Given the description of an element on the screen output the (x, y) to click on. 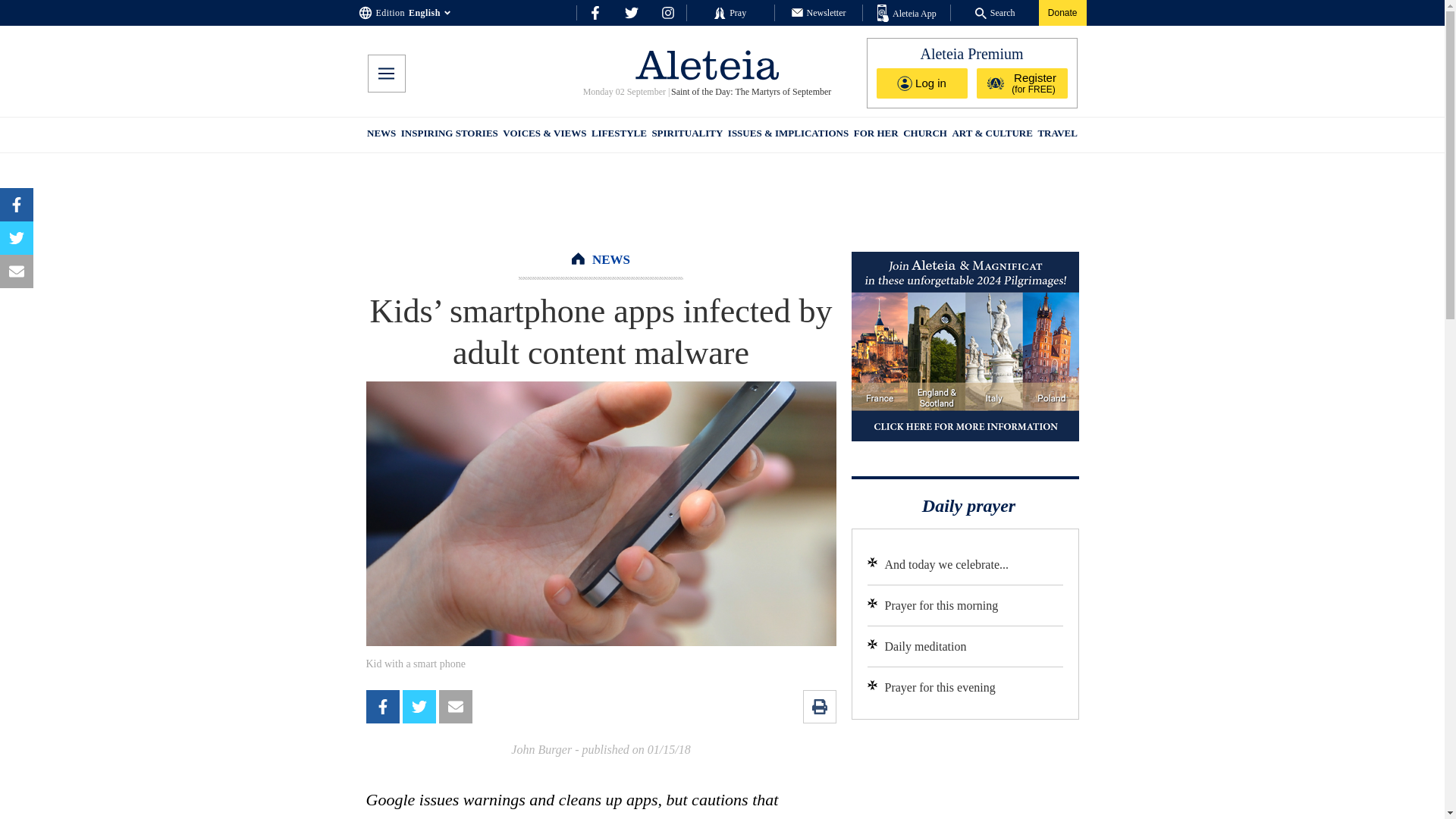
Saint of the Day: The Martyrs of September (750, 91)
Pray (729, 12)
social-ig-top-row (668, 12)
John Burger (541, 748)
LIFESTYLE (618, 134)
INSPIRING STORIES (449, 134)
social-fb-top-row (595, 12)
Newsletter (818, 12)
NEWS (611, 259)
mobile-menu-btn (385, 73)
